Given the description of an element on the screen output the (x, y) to click on. 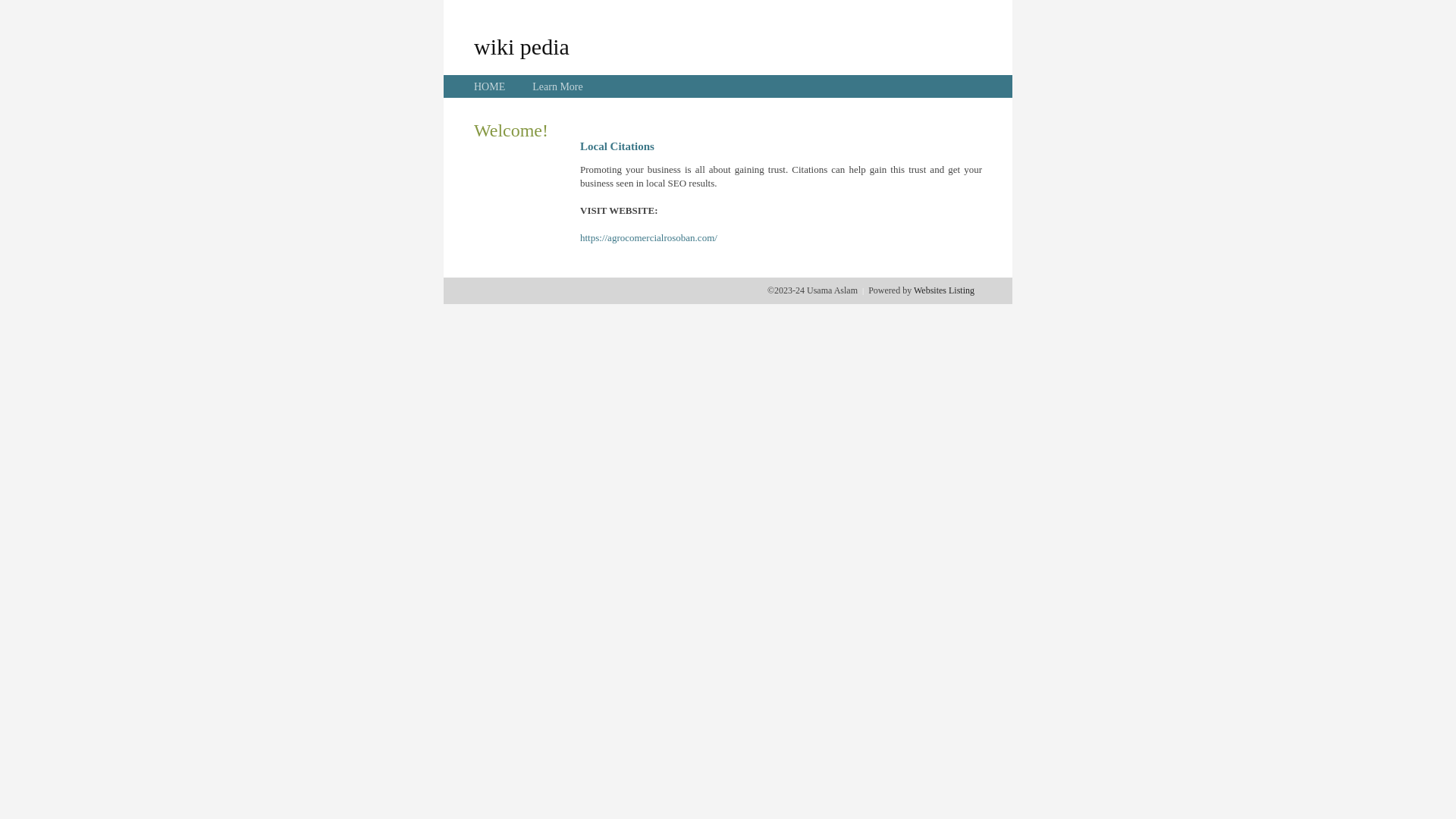
wiki pedia Element type: text (521, 46)
https://agrocomercialrosoban.com/ Element type: text (648, 237)
Learn More Element type: text (557, 86)
Websites Listing Element type: text (943, 290)
HOME Element type: text (489, 86)
